Given the description of an element on the screen output the (x, y) to click on. 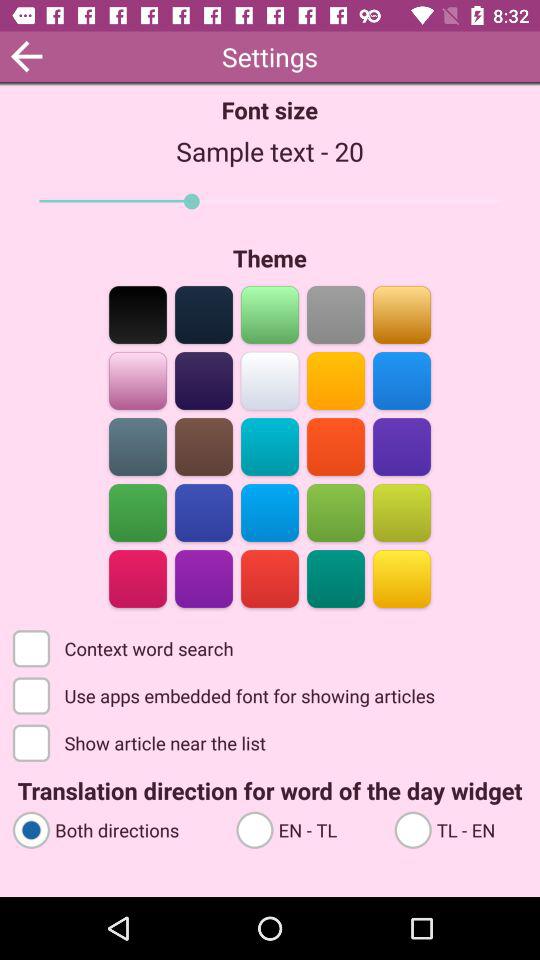
swipe until the context word search checkbox (124, 647)
